Given the description of an element on the screen output the (x, y) to click on. 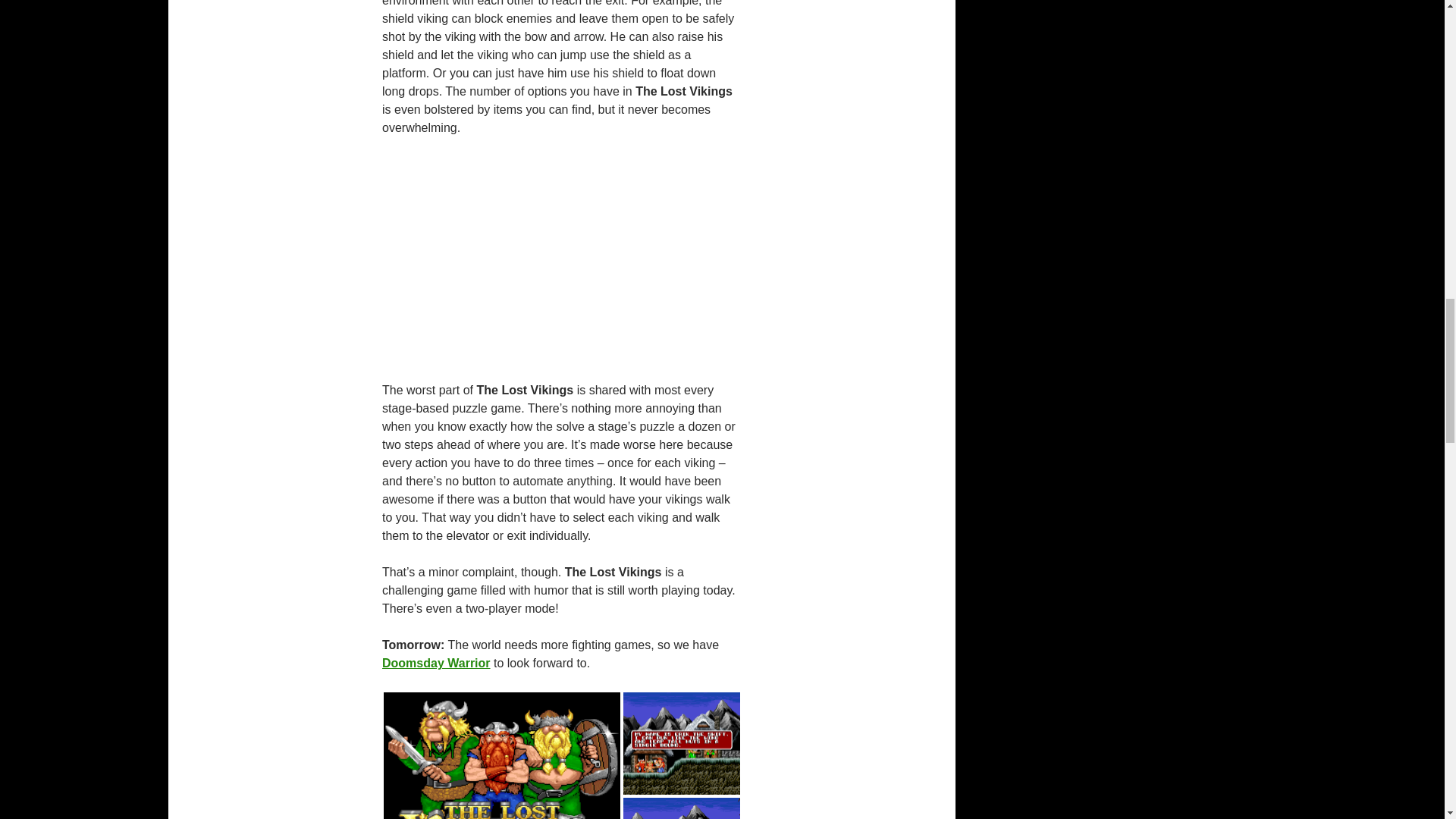
The Lost Vikings 02 (681, 743)
Doomsday Warrior (435, 662)
The Lost Vikings 03 (681, 808)
The Lost Vikings 01 (502, 755)
